Given the description of an element on the screen output the (x, y) to click on. 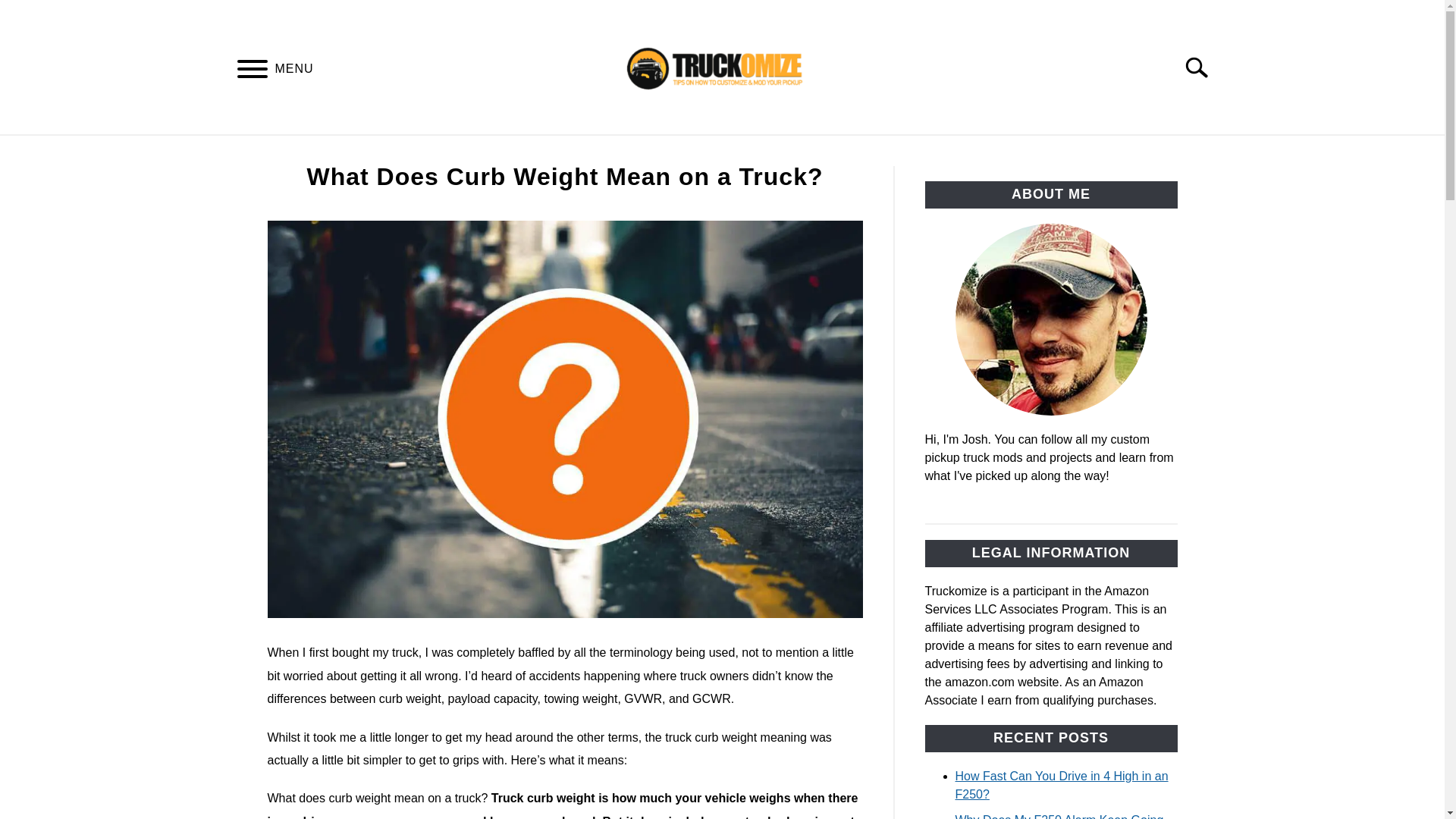
How Fast Can You Drive in 4 High in an F250? (1062, 784)
Search (1203, 67)
MENU (251, 70)
